Given the description of an element on the screen output the (x, y) to click on. 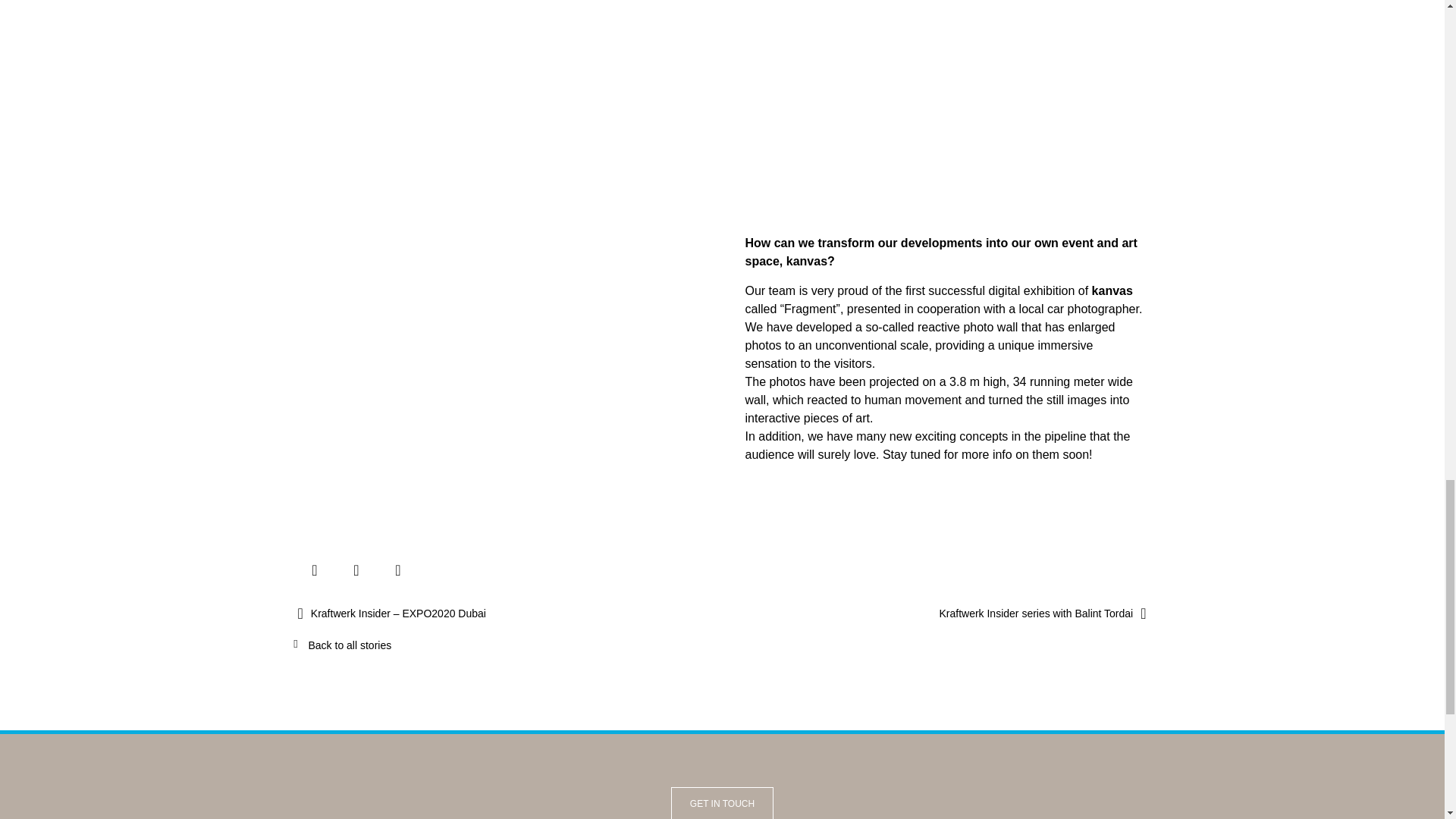
GET IN TOUCH (722, 803)
Kraftwerk Insider series with Balint Tordai (934, 613)
Back to all stories (349, 645)
